Given the description of an element on the screen output the (x, y) to click on. 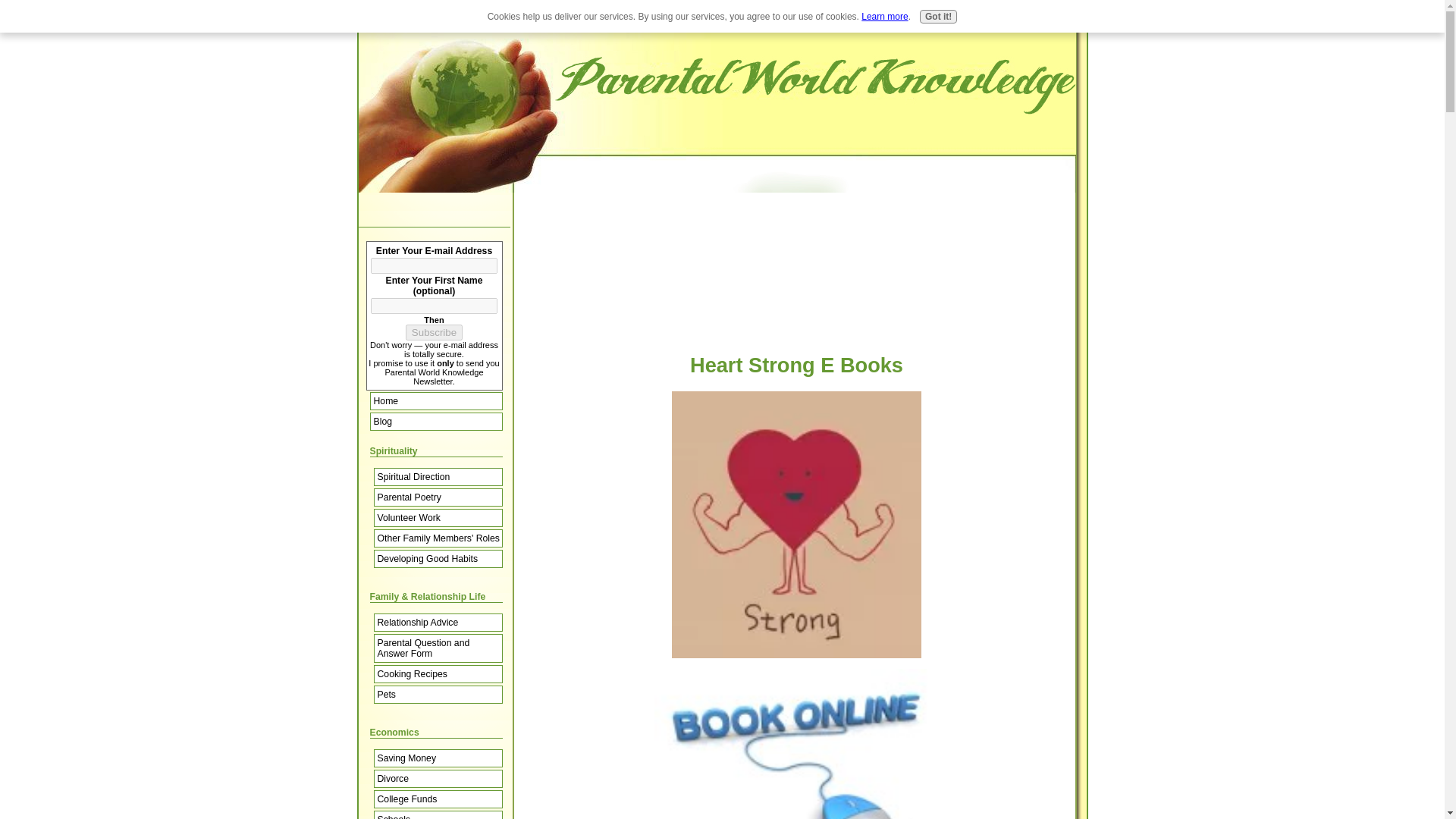
Parental Poetry (437, 497)
Learn more (884, 16)
Parental Question and Answer Form (437, 647)
Smart Shop (895, 24)
Schools (437, 814)
Subscribe (434, 332)
Free Updates!!!!! (1042, 24)
Volunteer Work (437, 517)
Home (739, 24)
Pets (437, 694)
